Given the description of an element on the screen output the (x, y) to click on. 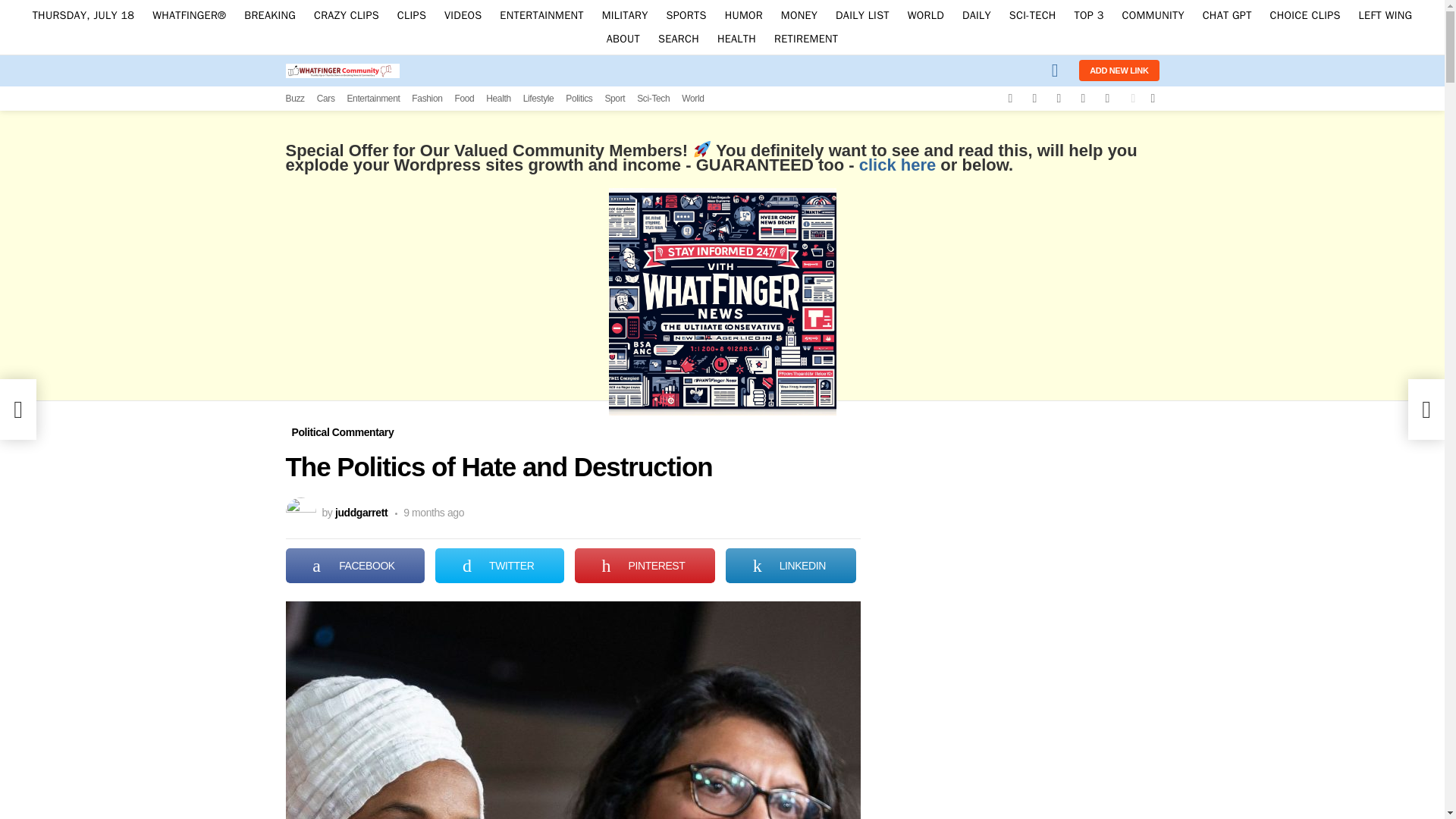
SEARCH (678, 38)
BREAKING (268, 15)
DAILY LIST (862, 15)
LEFT WING (1386, 15)
Share on Pinterest (644, 565)
Entertainment (372, 98)
COMMUNITY (1153, 15)
Share on Facebook (355, 565)
ADD NEW LINK (1118, 70)
RETIREMENT (806, 38)
Fashion (427, 98)
Lifestyle (538, 98)
HEALTH (736, 38)
TOP 3 (1087, 15)
SPORTS (686, 15)
